Given the description of an element on the screen output the (x, y) to click on. 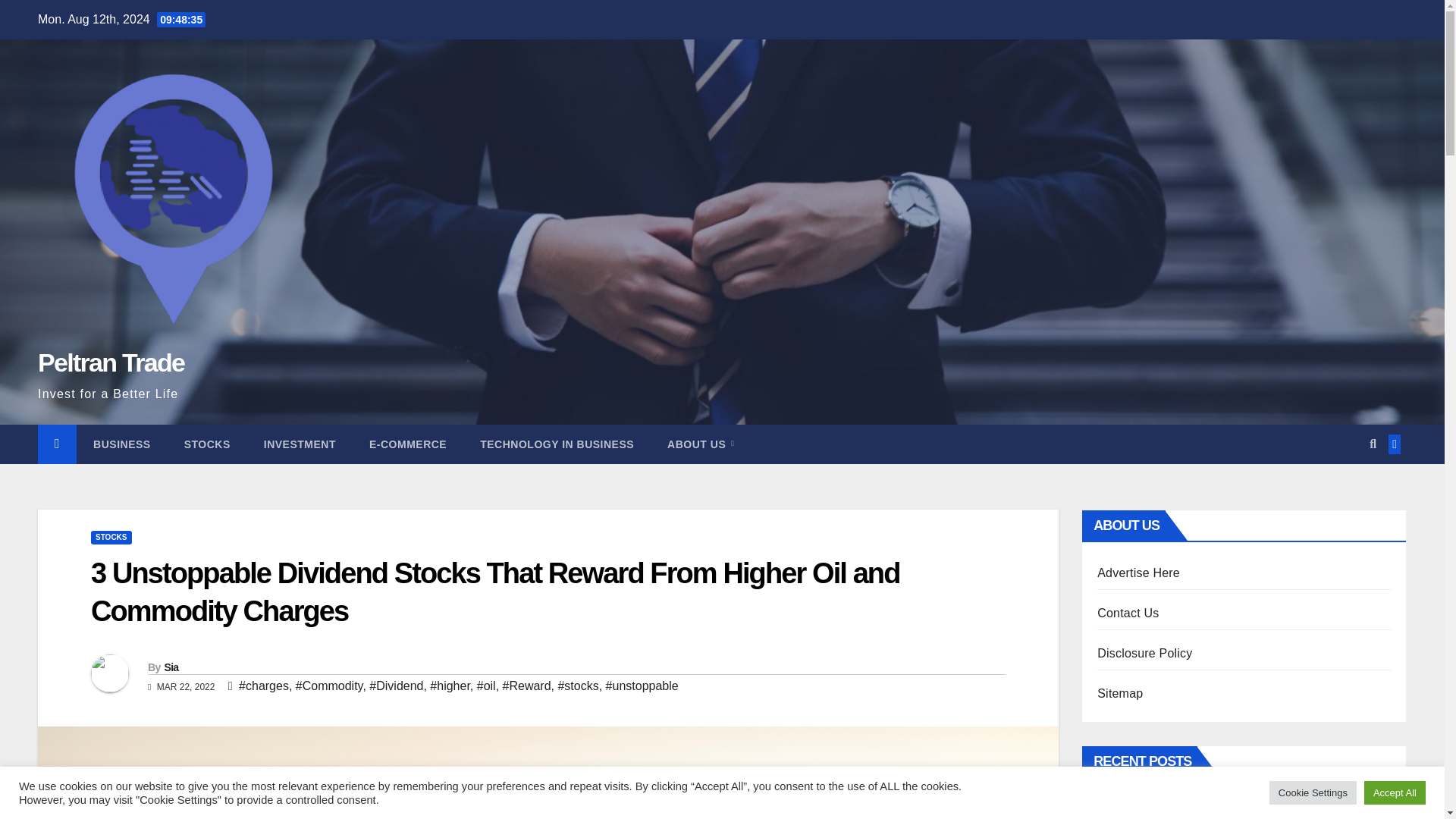
TECHNOLOGY IN BUSINESS (556, 444)
E-COMMERCE (407, 444)
STOCKS (111, 537)
BUSINESS (122, 444)
Peltran Trade (110, 362)
ABOUT US (700, 444)
About Us (700, 444)
Business (122, 444)
